Given the description of an element on the screen output the (x, y) to click on. 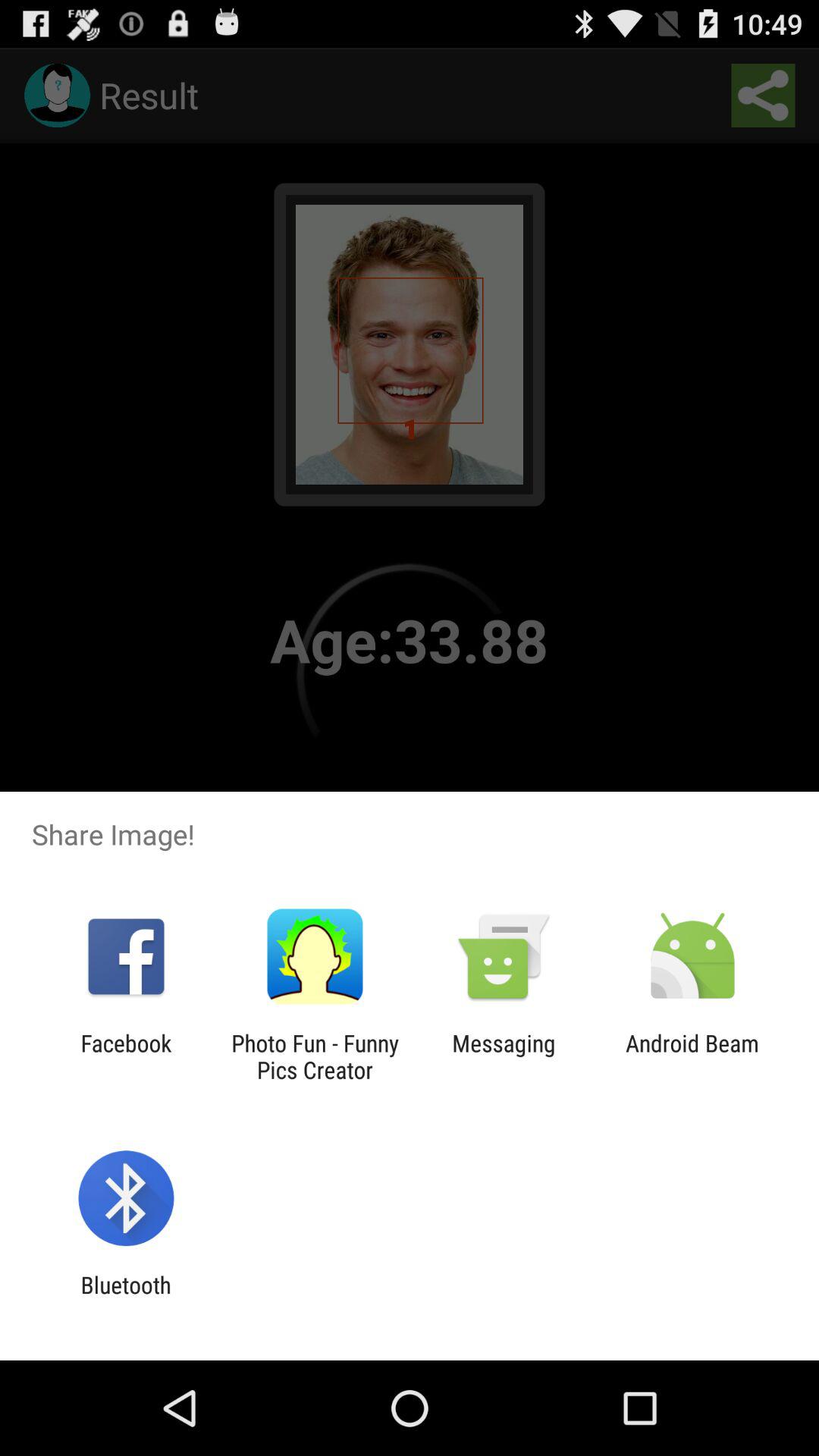
launch the icon next to messaging item (692, 1056)
